Given the description of an element on the screen output the (x, y) to click on. 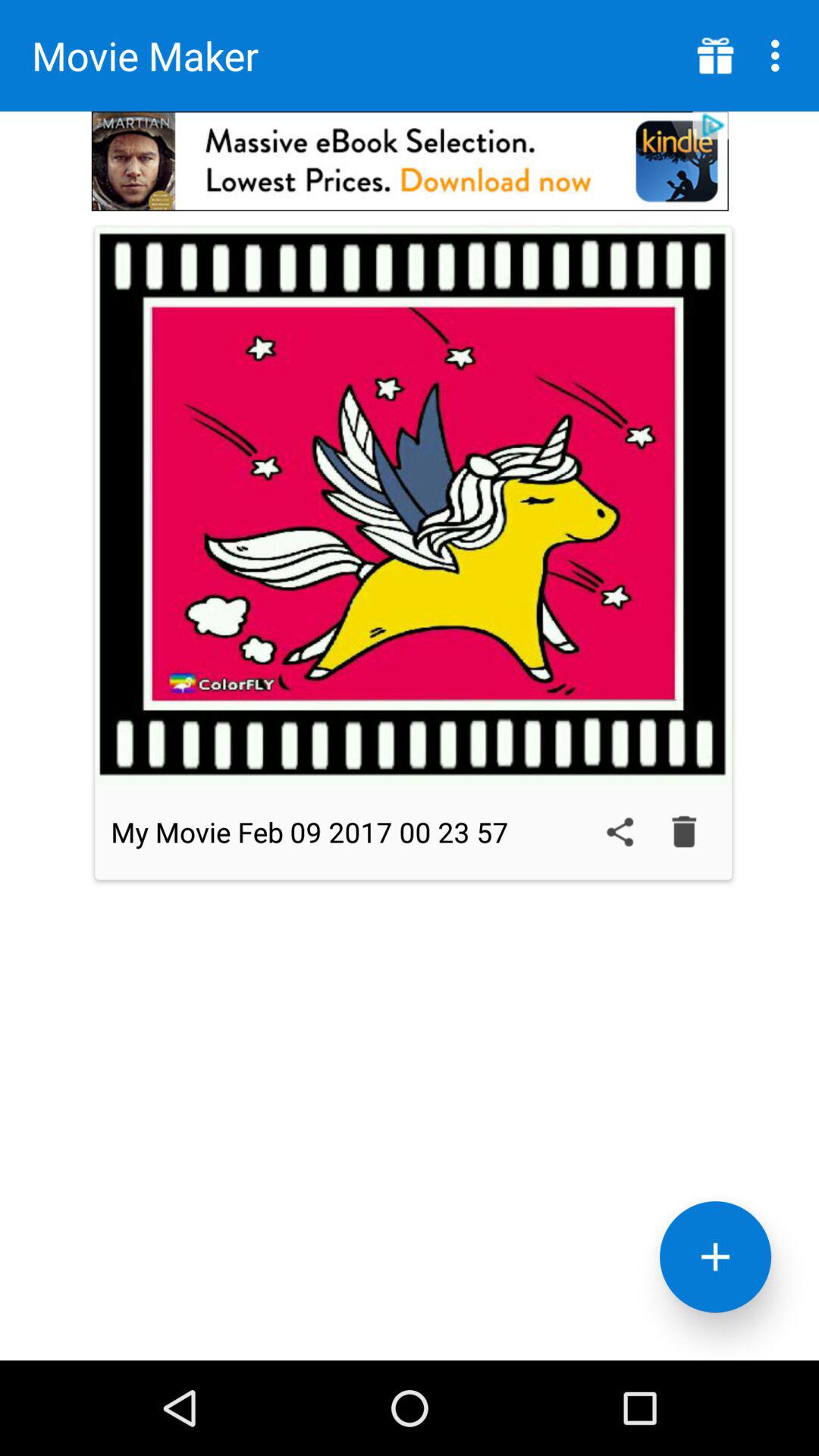
delete (684, 831)
